Given the description of an element on the screen output the (x, y) to click on. 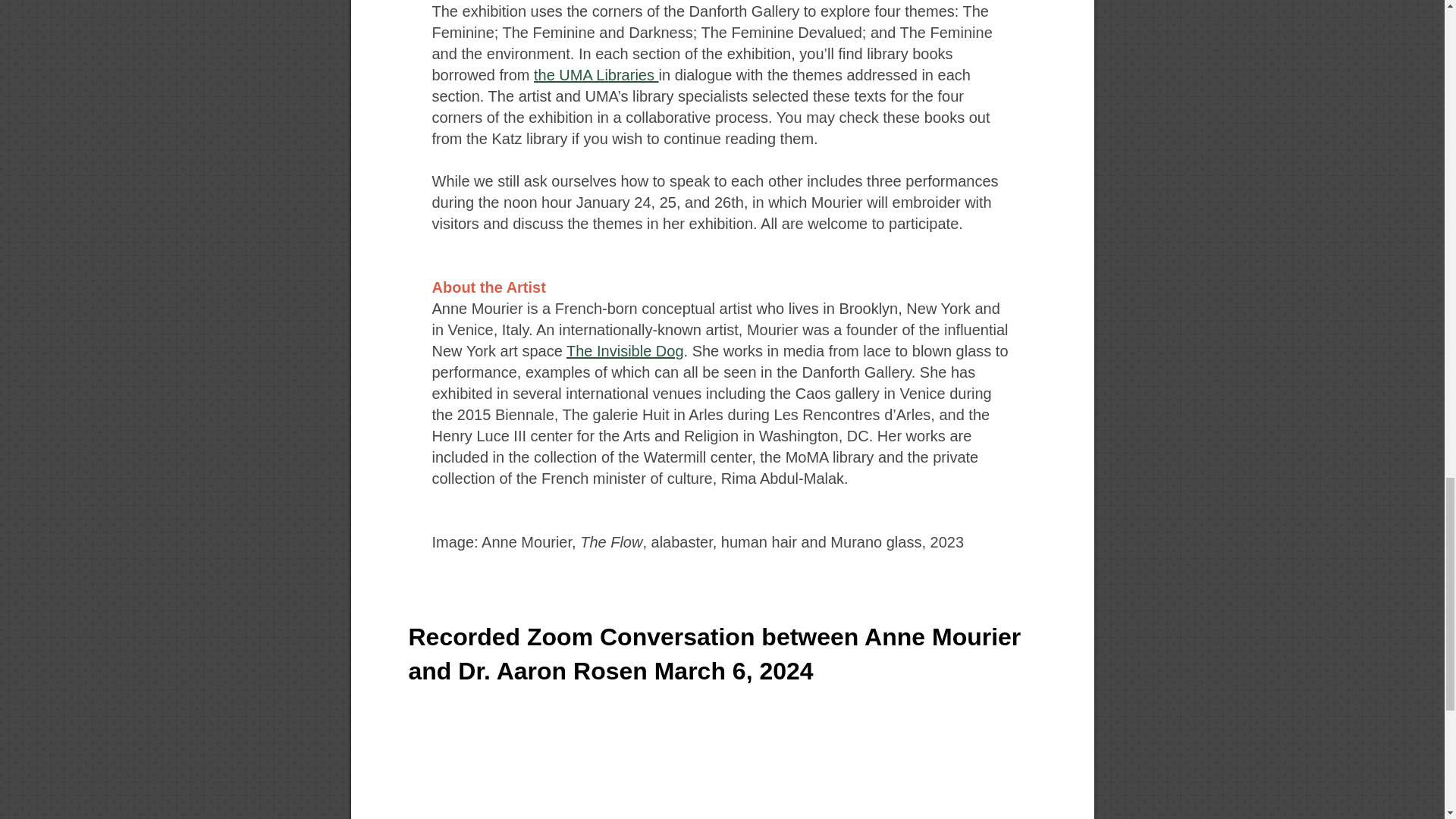
the UMA Libraries (596, 74)
Conversation between Anne Mourier and Aaron Rosen (721, 753)
The Invisible Dog (625, 351)
